Given the description of an element on the screen output the (x, y) to click on. 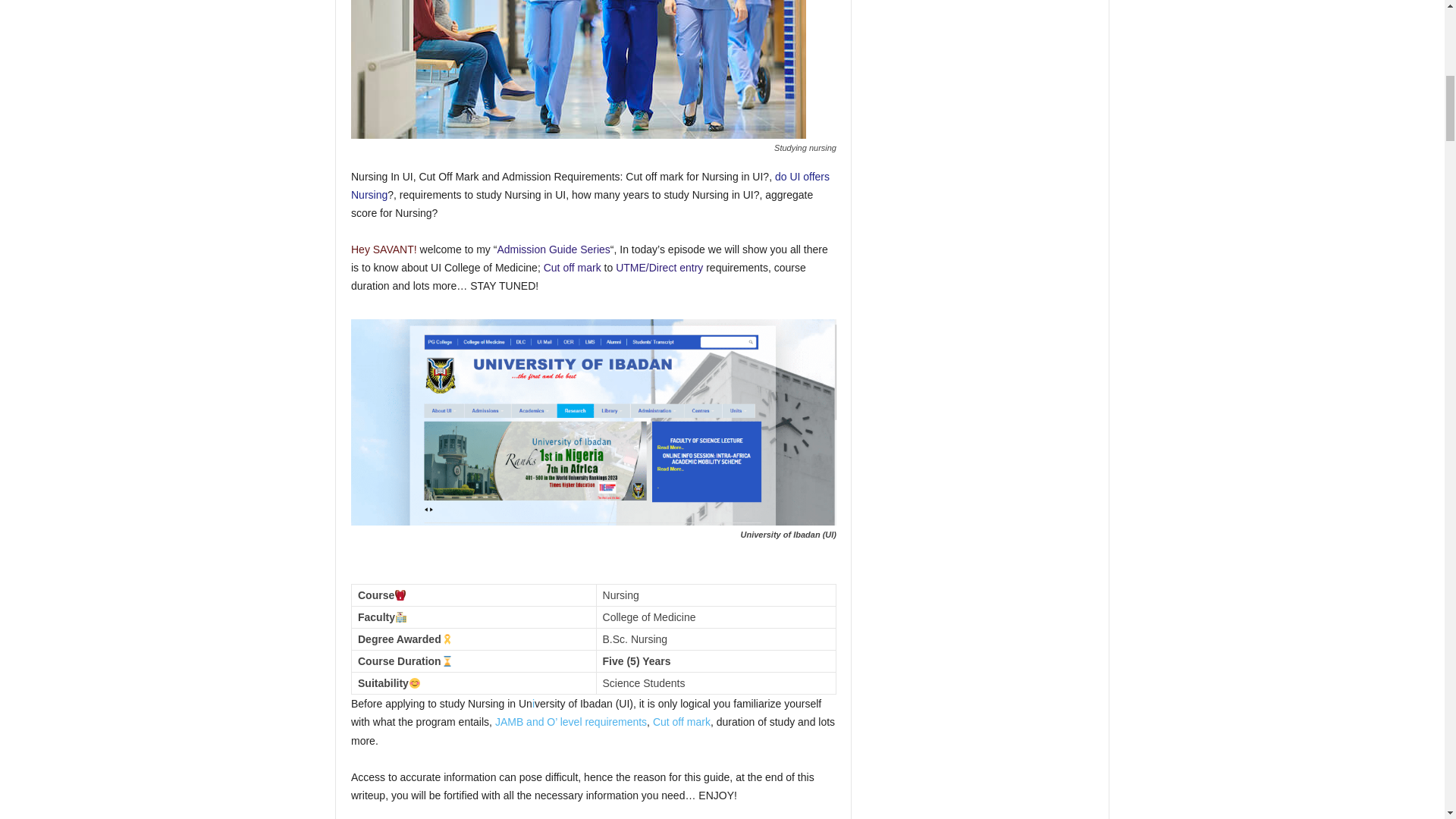
Nursing (578, 69)
Admission Guide Series (553, 249)
do UI offers Nursing (589, 185)
Cut off mark (681, 721)
Cut off mark (572, 267)
